Given the description of an element on the screen output the (x, y) to click on. 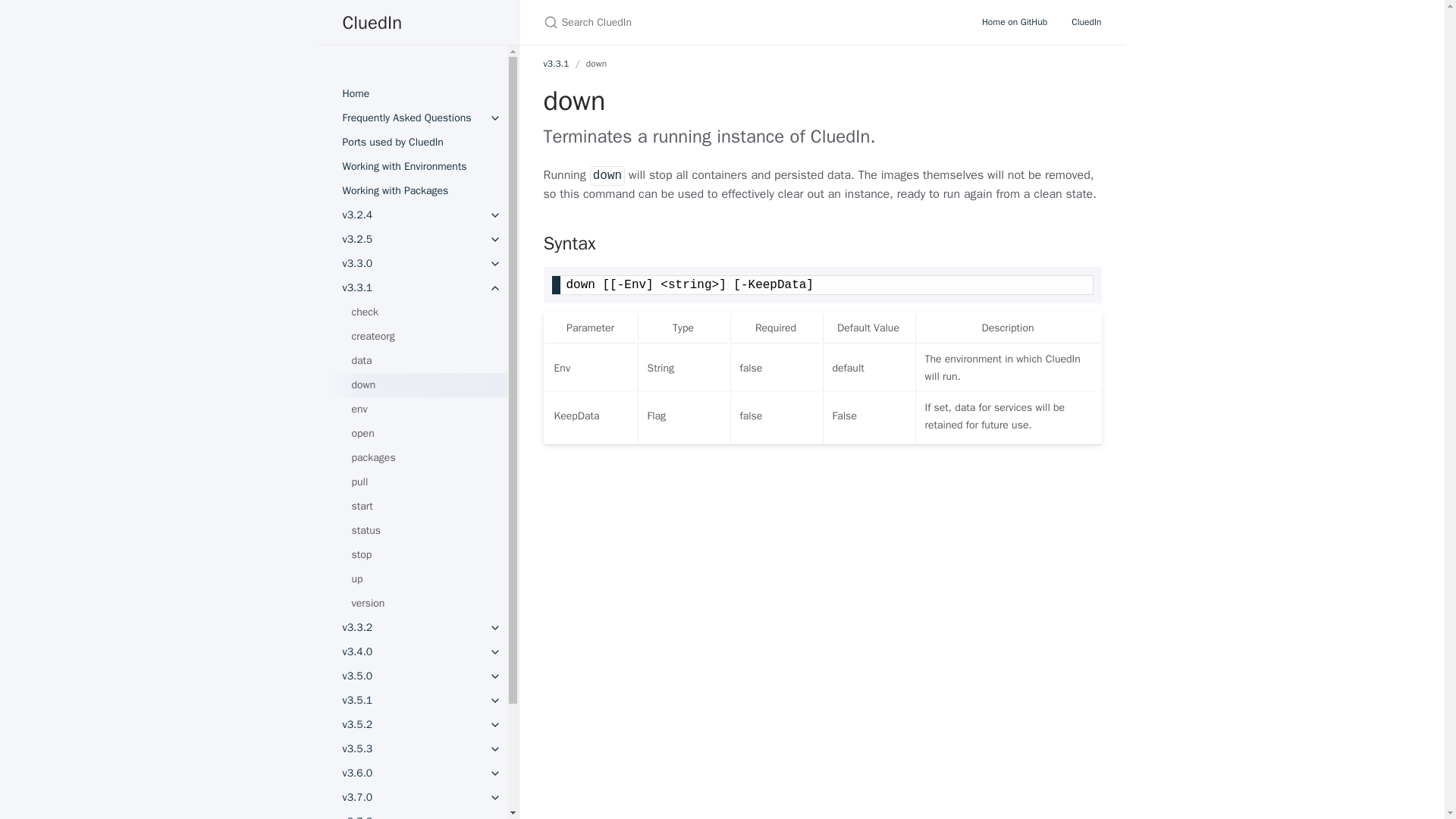
Working with Environments (412, 166)
v3.2.5 (412, 239)
Ports used by CluedIn (412, 142)
v3.2.4 (412, 215)
Home (412, 93)
CluedIn (418, 22)
Frequently Asked Questions (412, 118)
Working with Packages (412, 191)
